Given the description of an element on the screen output the (x, y) to click on. 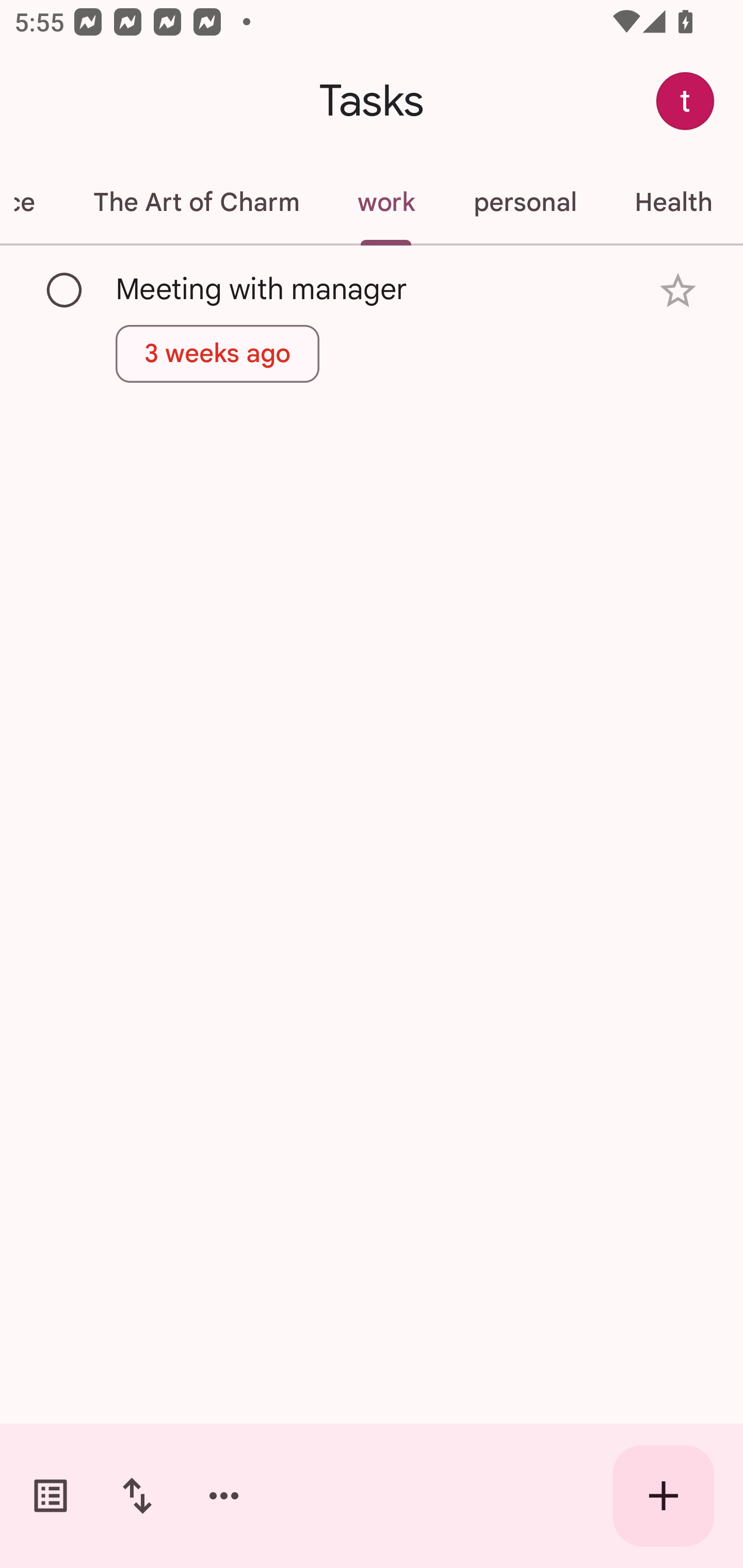
The Art of Charm (195, 202)
personal (524, 202)
Health (673, 202)
Add star (677, 290)
Mark as complete (64, 290)
3 weeks ago (217, 353)
Switch task lists (50, 1495)
Create new task (663, 1495)
Change sort order (136, 1495)
More options (223, 1495)
